Given the description of an element on the screen output the (x, y) to click on. 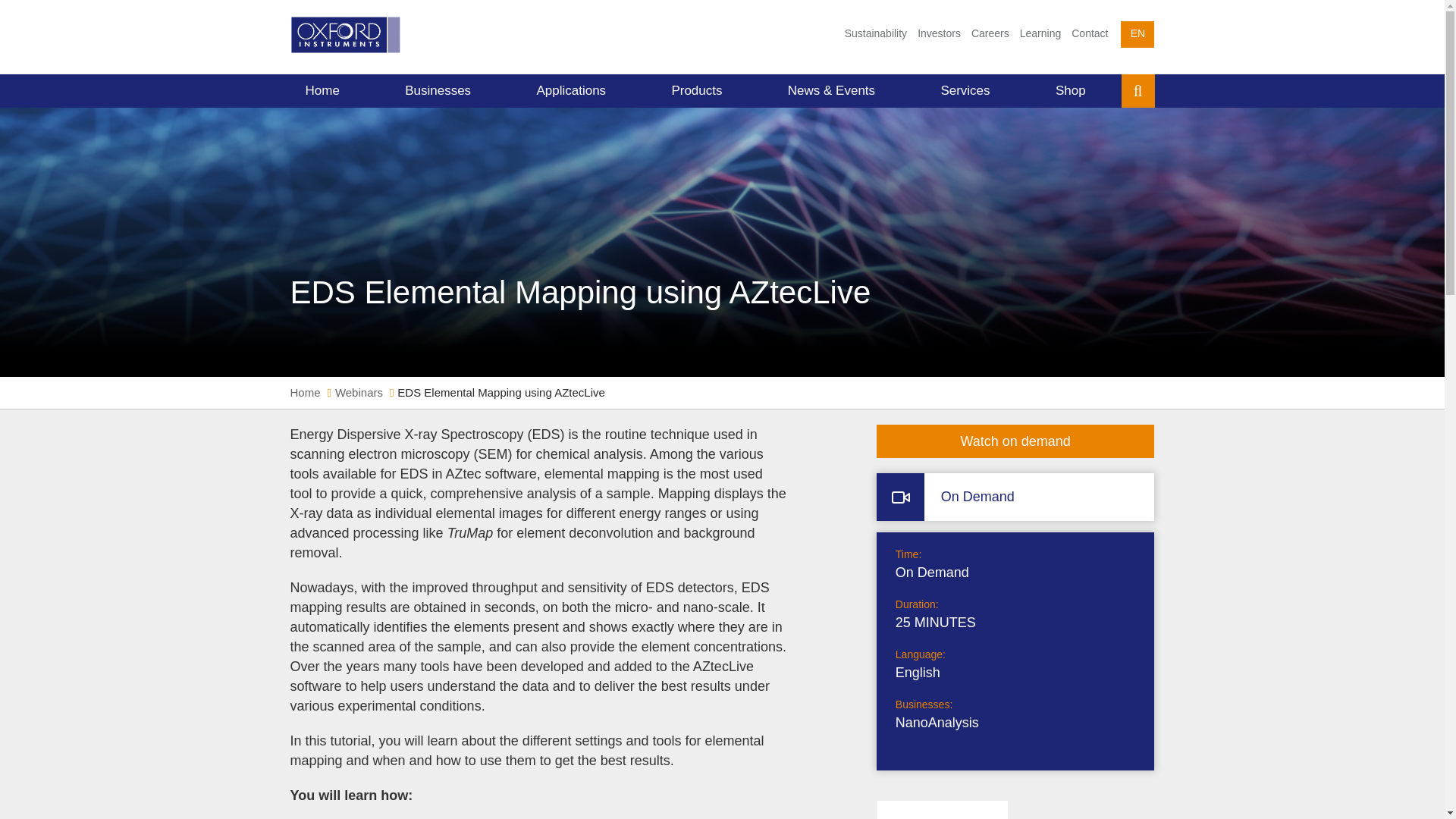
Investors (939, 33)
Businesses (438, 90)
Sustainability (876, 33)
EN (1137, 34)
Contact (1089, 33)
Careers (990, 33)
Applications (571, 90)
Home (321, 90)
Learning (1040, 33)
